Given the description of an element on the screen output the (x, y) to click on. 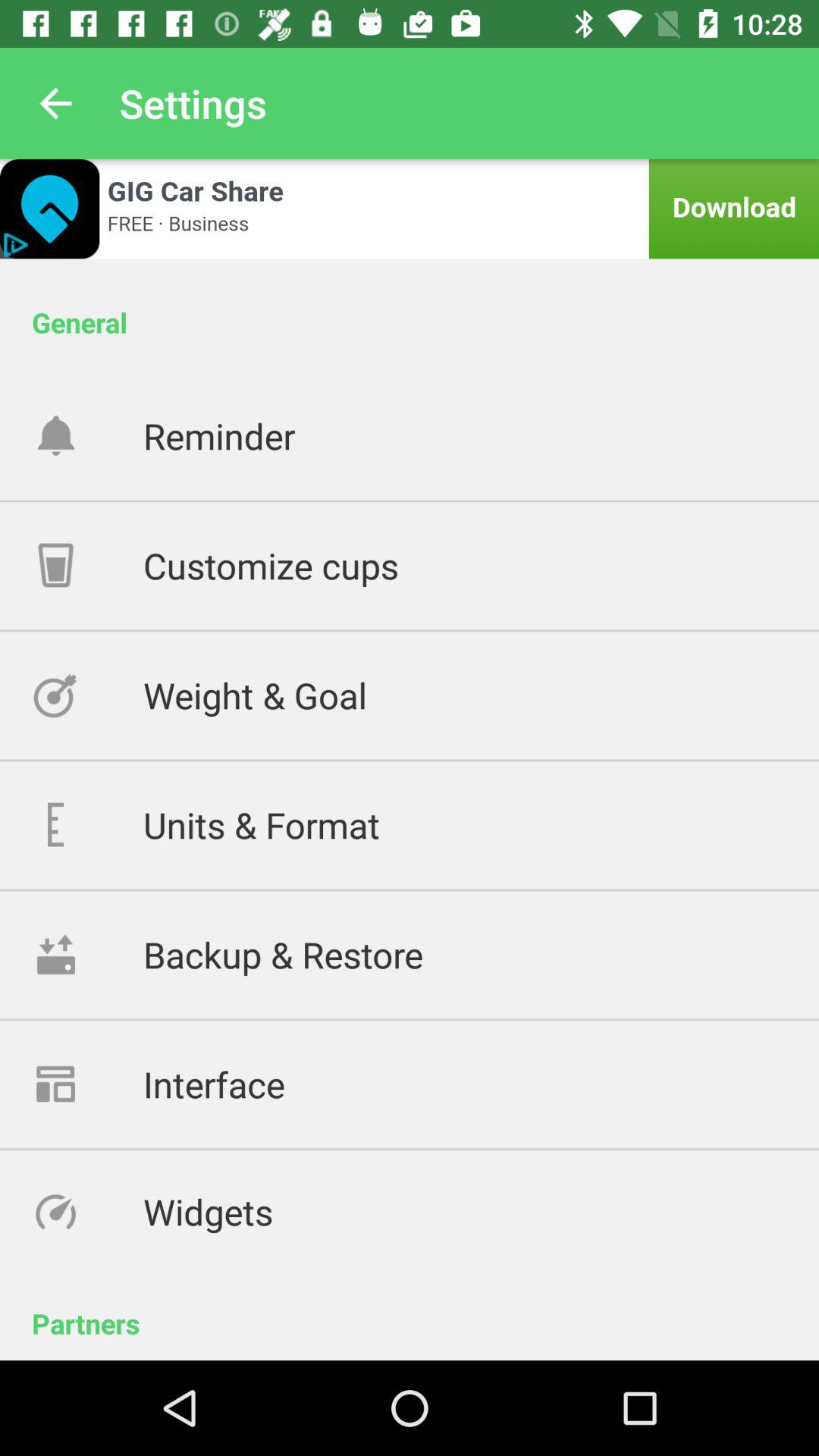
advertisement (409, 208)
